Given the description of an element on the screen output the (x, y) to click on. 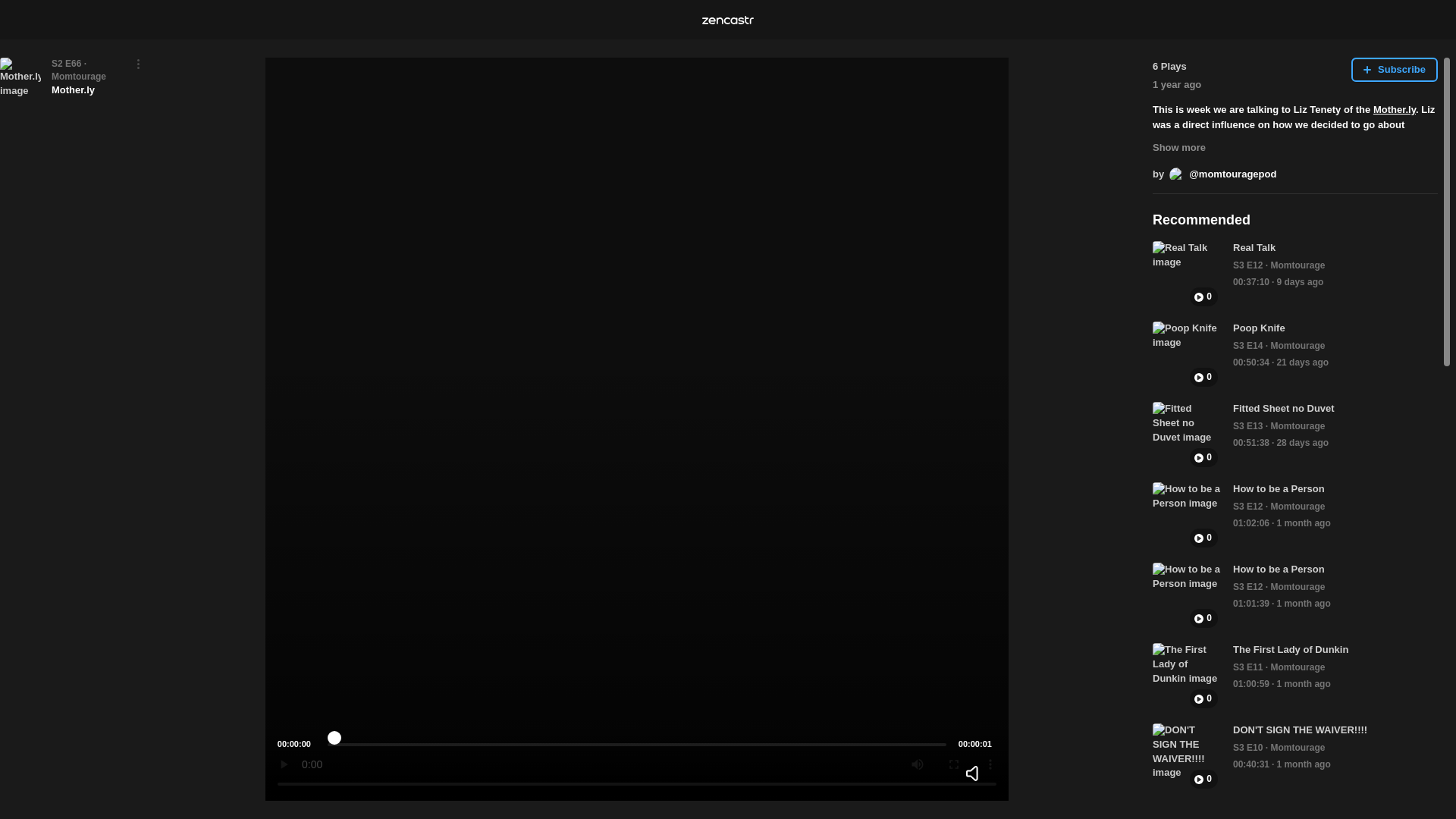
Mother.ly (1394, 109)
Subscribe (1394, 69)
